Given the description of an element on the screen output the (x, y) to click on. 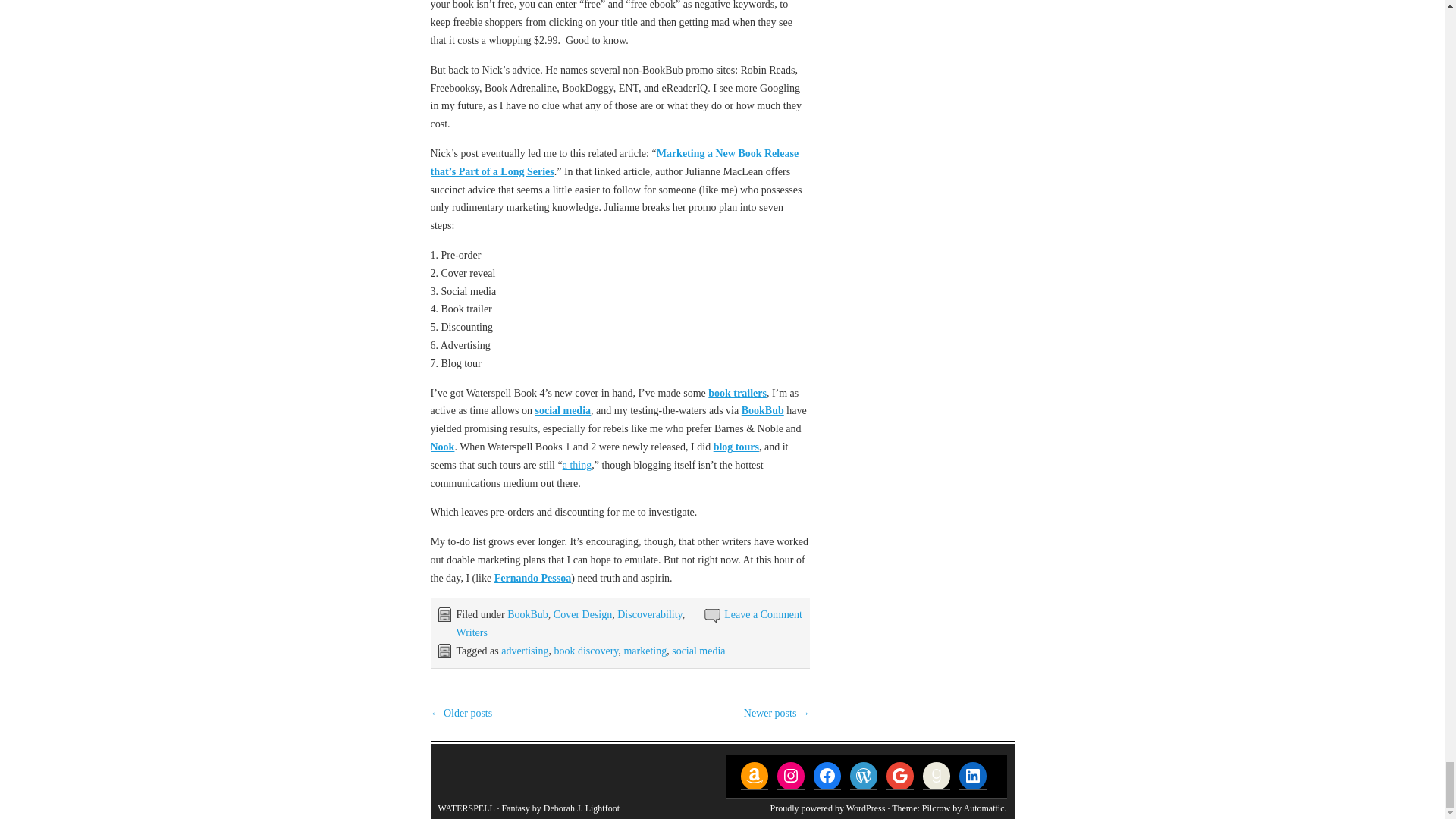
WATERSPELL (466, 808)
A Semantic Personal Publishing Platform (827, 808)
